Given the description of an element on the screen output the (x, y) to click on. 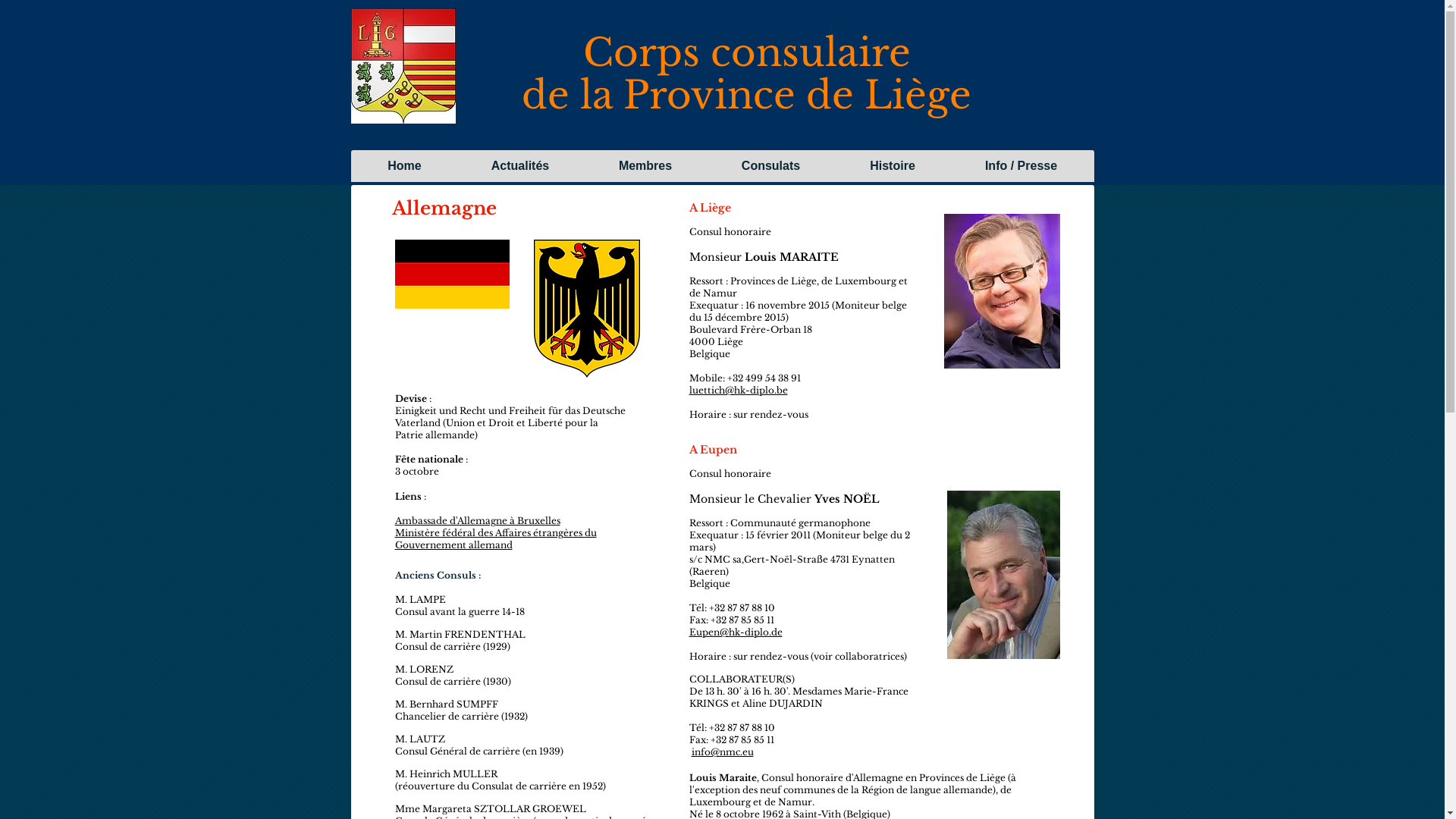
Info / Presse Element type: text (1020, 165)
Histoire Element type: text (891, 165)
Home Element type: text (404, 165)
luettich@hk-diplo.be Element type: text (737, 389)
Consulats Element type: text (770, 165)
Corps consulaire Element type: text (746, 52)
Eupen@hk-diplo.de Element type: text (734, 631)
info@nmc.eu Element type: text (722, 751)
Membres Element type: text (644, 165)
